Given the description of an element on the screen output the (x, y) to click on. 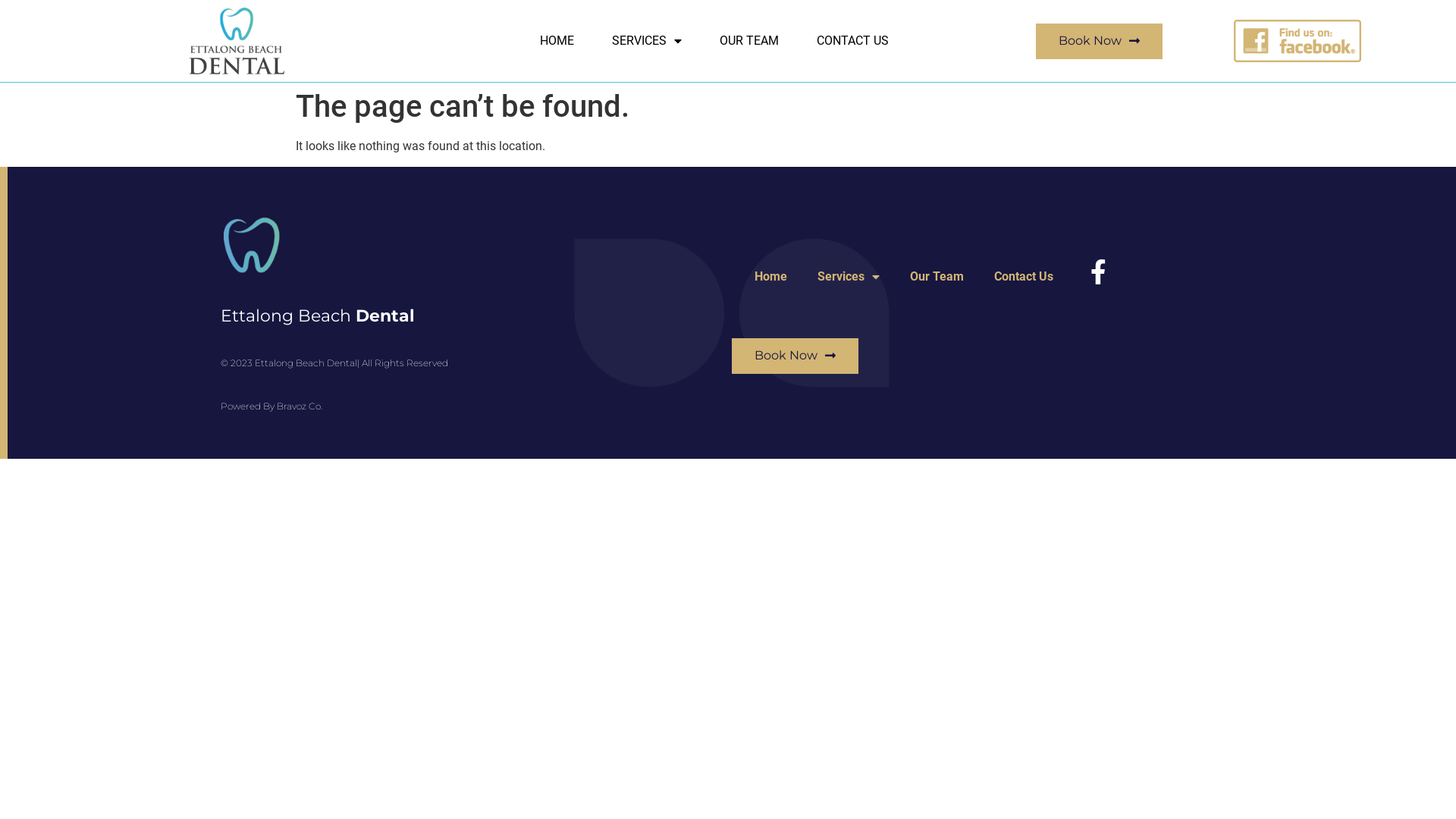
CONTACT US Element type: text (852, 40)
SERVICES Element type: text (646, 40)
Services Element type: text (848, 276)
Home Element type: text (770, 276)
Ettalong Beach Dental Element type: text (317, 315)
HOME Element type: text (556, 40)
Powered By Bravoz Co. Element type: text (271, 405)
Book Now Element type: text (1098, 40)
OUR TEAM Element type: text (748, 40)
Our Team Element type: text (936, 276)
Book Now Element type: text (794, 355)
Contact Us Element type: text (1023, 276)
